Given the description of an element on the screen output the (x, y) to click on. 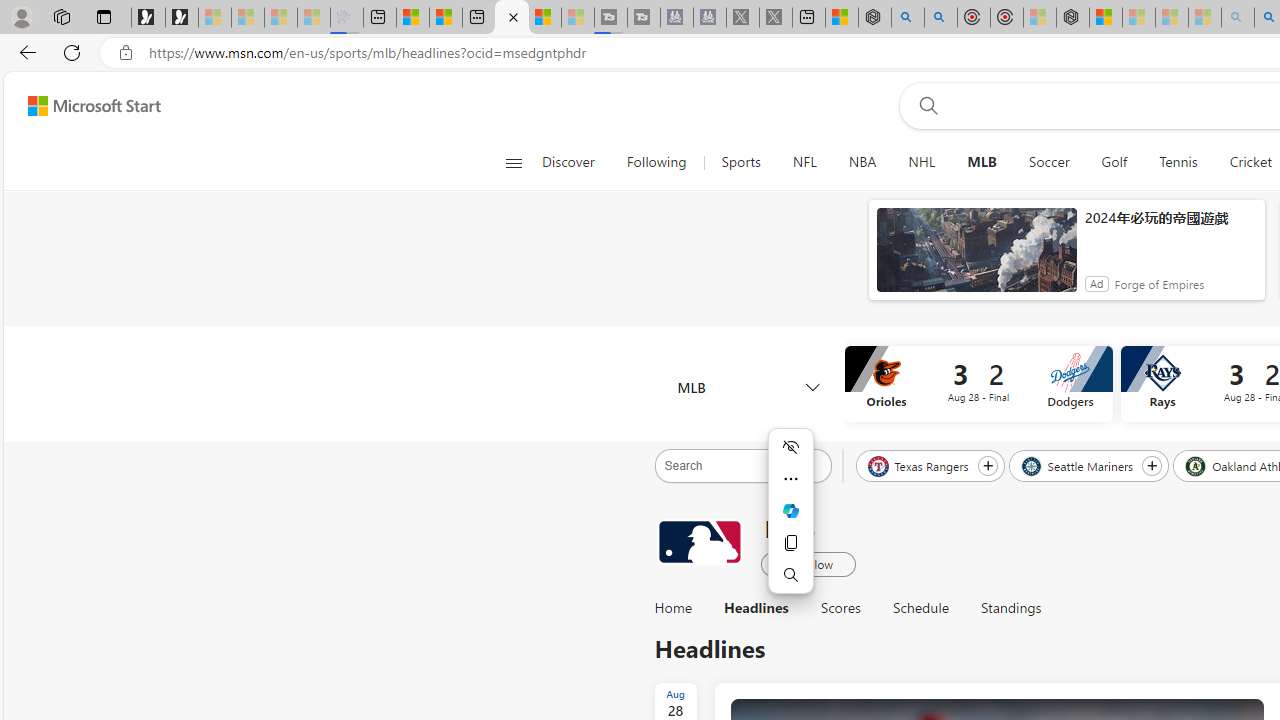
MLB (981, 162)
Mini menu on text selection (790, 511)
NBA (862, 162)
Standings (1002, 607)
MLB (981, 162)
Mini menu on text selection (790, 522)
Ask Copilot (790, 511)
Soccer (1048, 162)
